Given the description of an element on the screen output the (x, y) to click on. 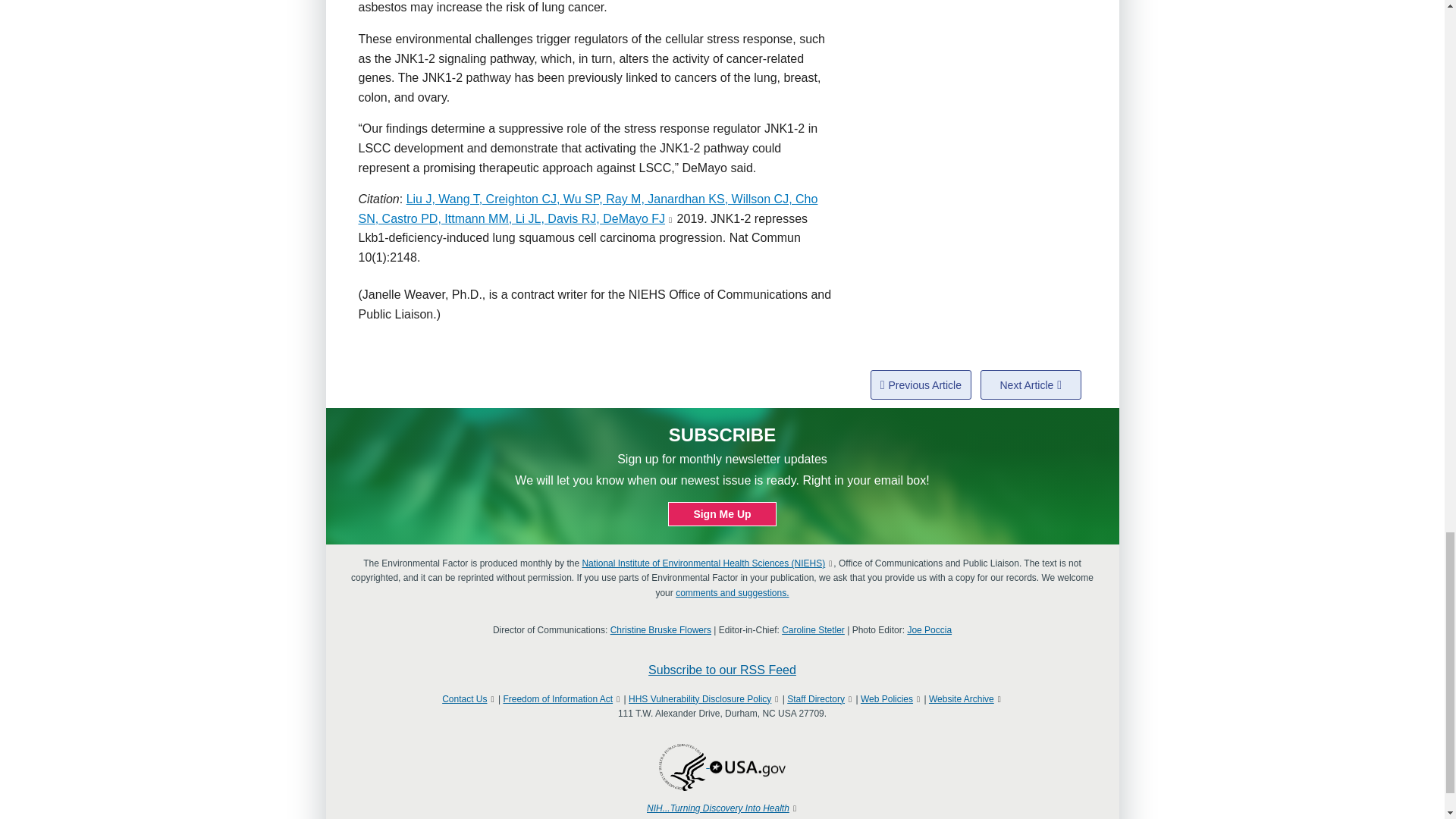
Staff Directory (815, 698)
comments and suggestions. (732, 593)
Freedom of Information Act (557, 698)
HHS Vulnerability Disclosure Policy (699, 698)
Sign Me Up (722, 514)
Contact Us (464, 698)
Christine Bruske Flowers (660, 629)
Next Article (1030, 385)
Previous Article (920, 385)
